Given the description of an element on the screen output the (x, y) to click on. 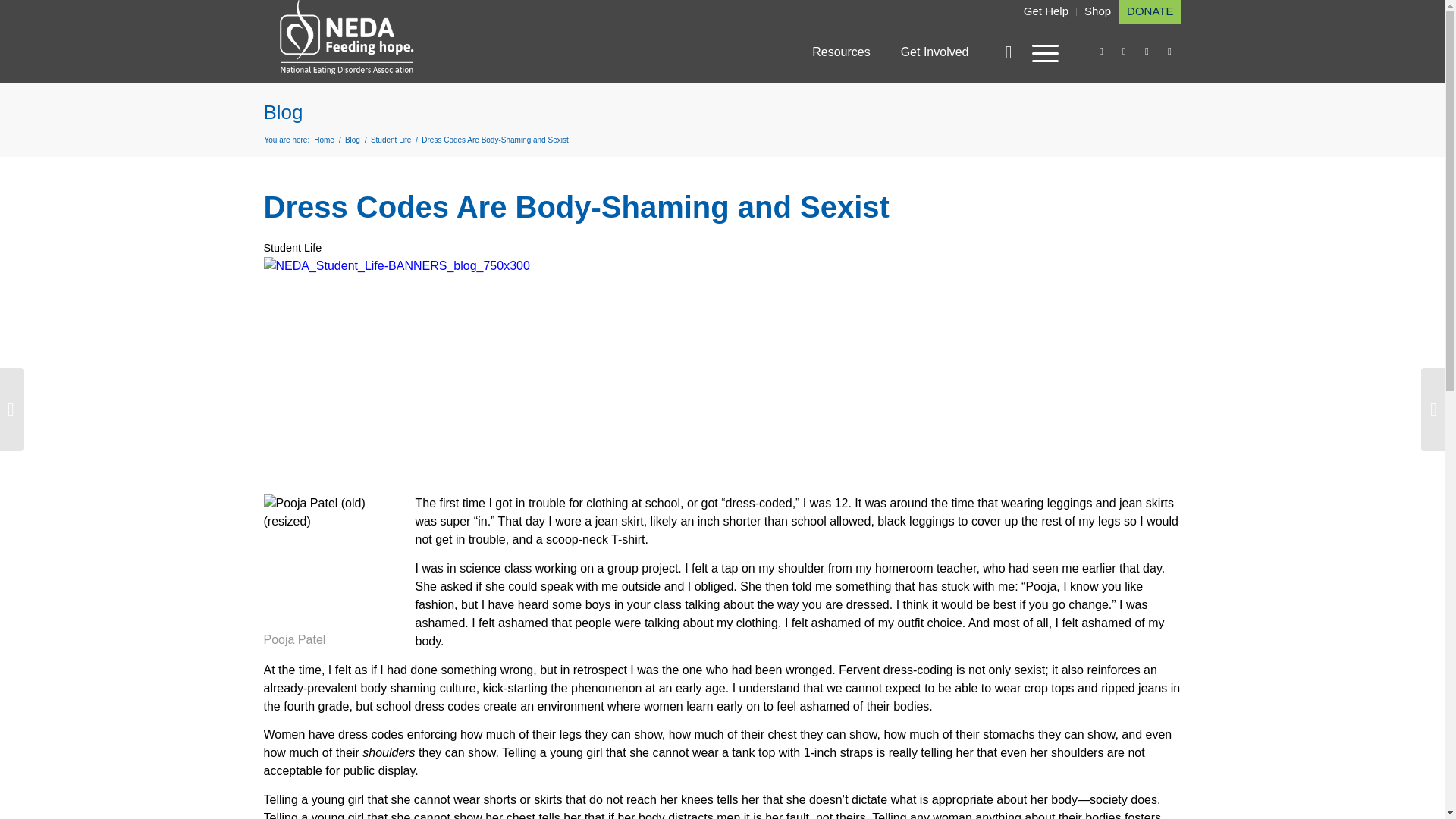
Student Life (390, 139)
LinkedIn (1124, 51)
Get Involved (935, 51)
Blog (352, 139)
Resources (840, 51)
Home (323, 139)
Shop (1097, 11)
Blog (282, 111)
Blog (352, 139)
Facebook (1169, 51)
